Given the description of an element on the screen output the (x, y) to click on. 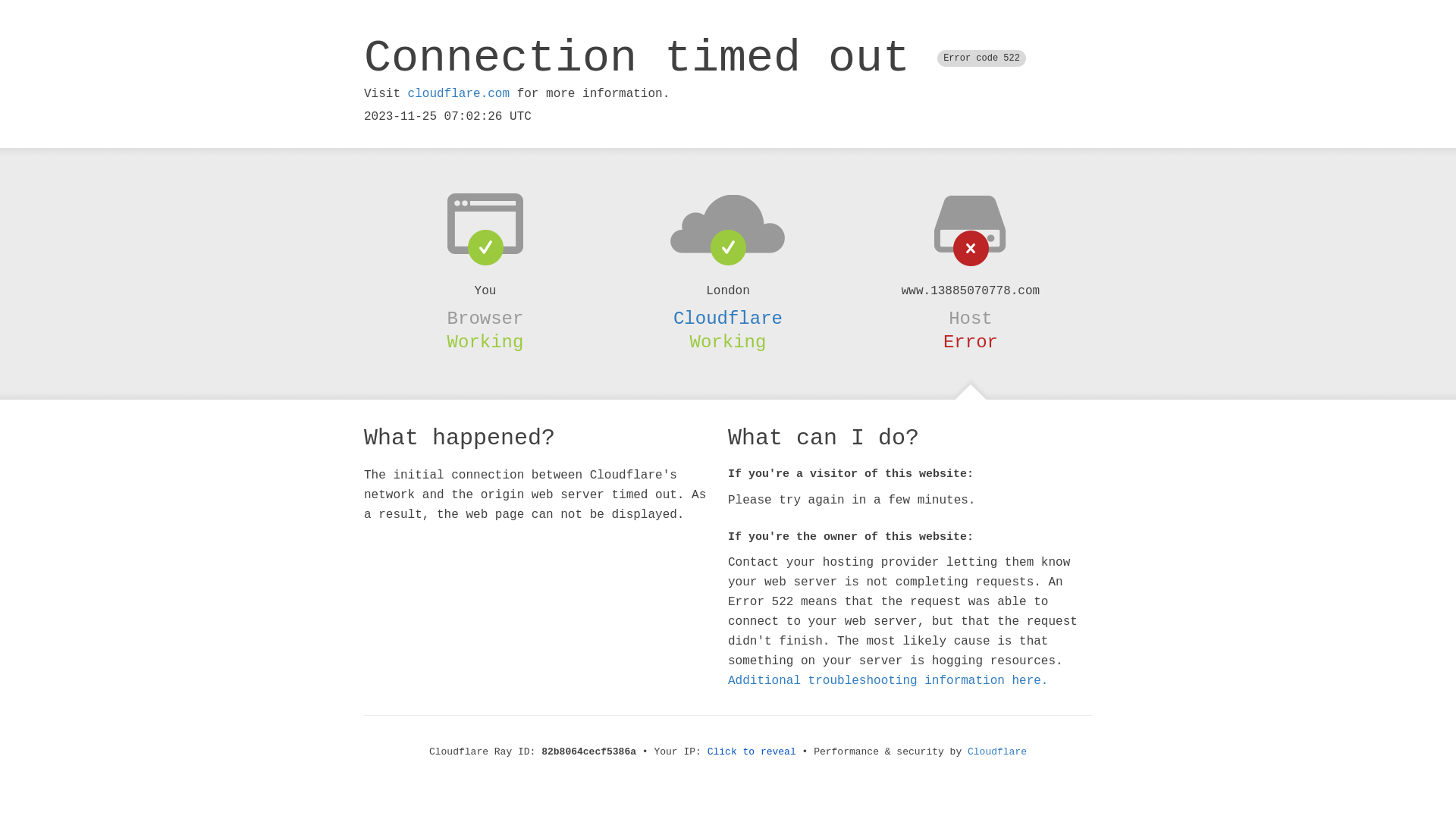
cloudflare.com Element type: text (458, 93)
Click to reveal Element type: text (751, 751)
Additional troubleshooting information here. Element type: text (888, 680)
Cloudflare Element type: text (727, 318)
Cloudflare Element type: text (996, 751)
